Given the description of an element on the screen output the (x, y) to click on. 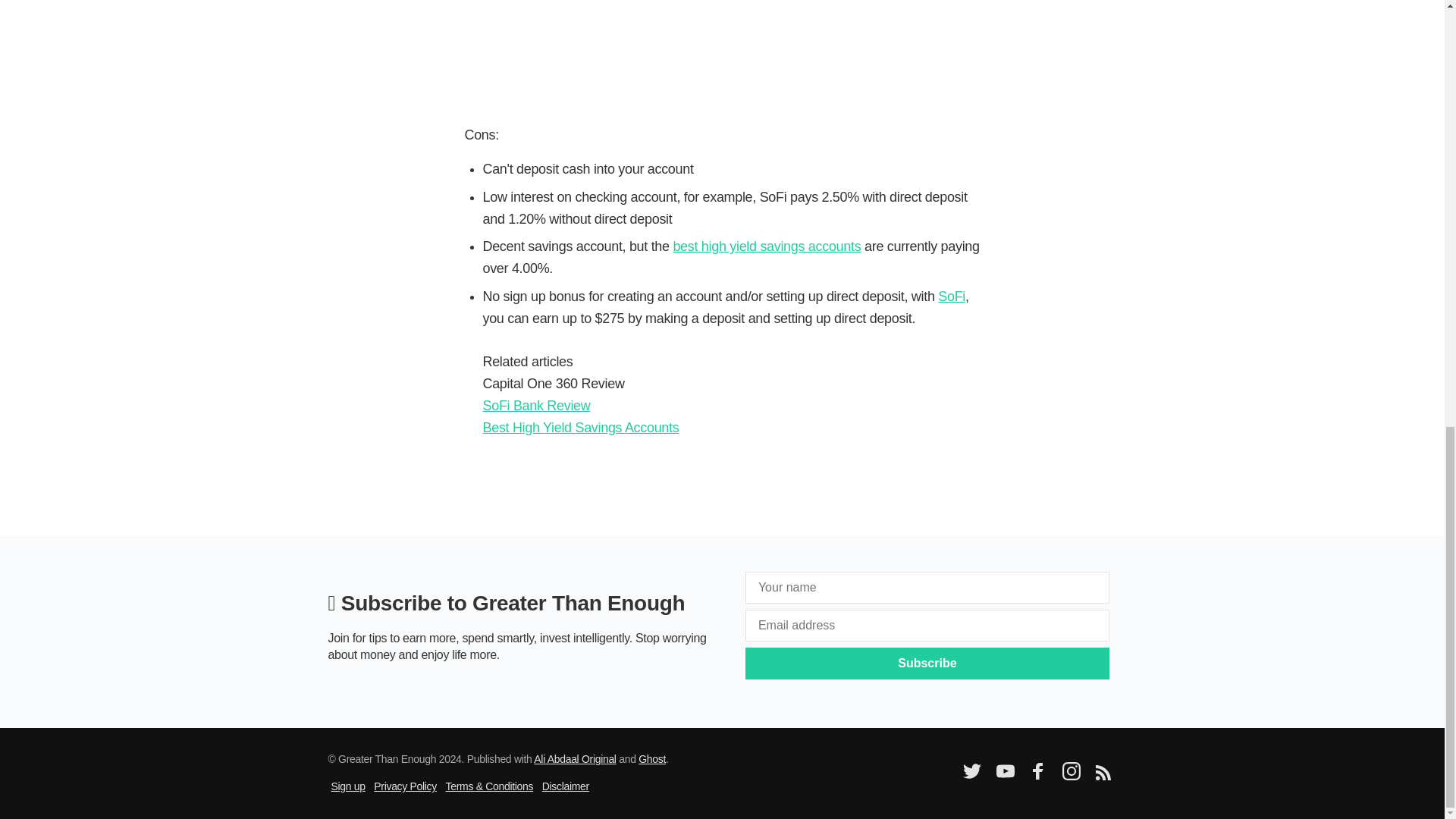
Best High Yield Savings Accounts (579, 427)
Sign up (347, 786)
best high yield savings accounts (766, 246)
Disclaimer (565, 786)
Privacy Policy (405, 786)
SoFi Bank Review (535, 405)
Ghost (652, 758)
Ally Bank Review 2023 (721, 41)
Subscribe (927, 663)
RSS (1101, 776)
Ghost (652, 758)
Ali Abdaal Original theme by Super Themes Co. (574, 758)
SoFi (951, 296)
Ali Abdaal Original (574, 758)
